Given the description of an element on the screen output the (x, y) to click on. 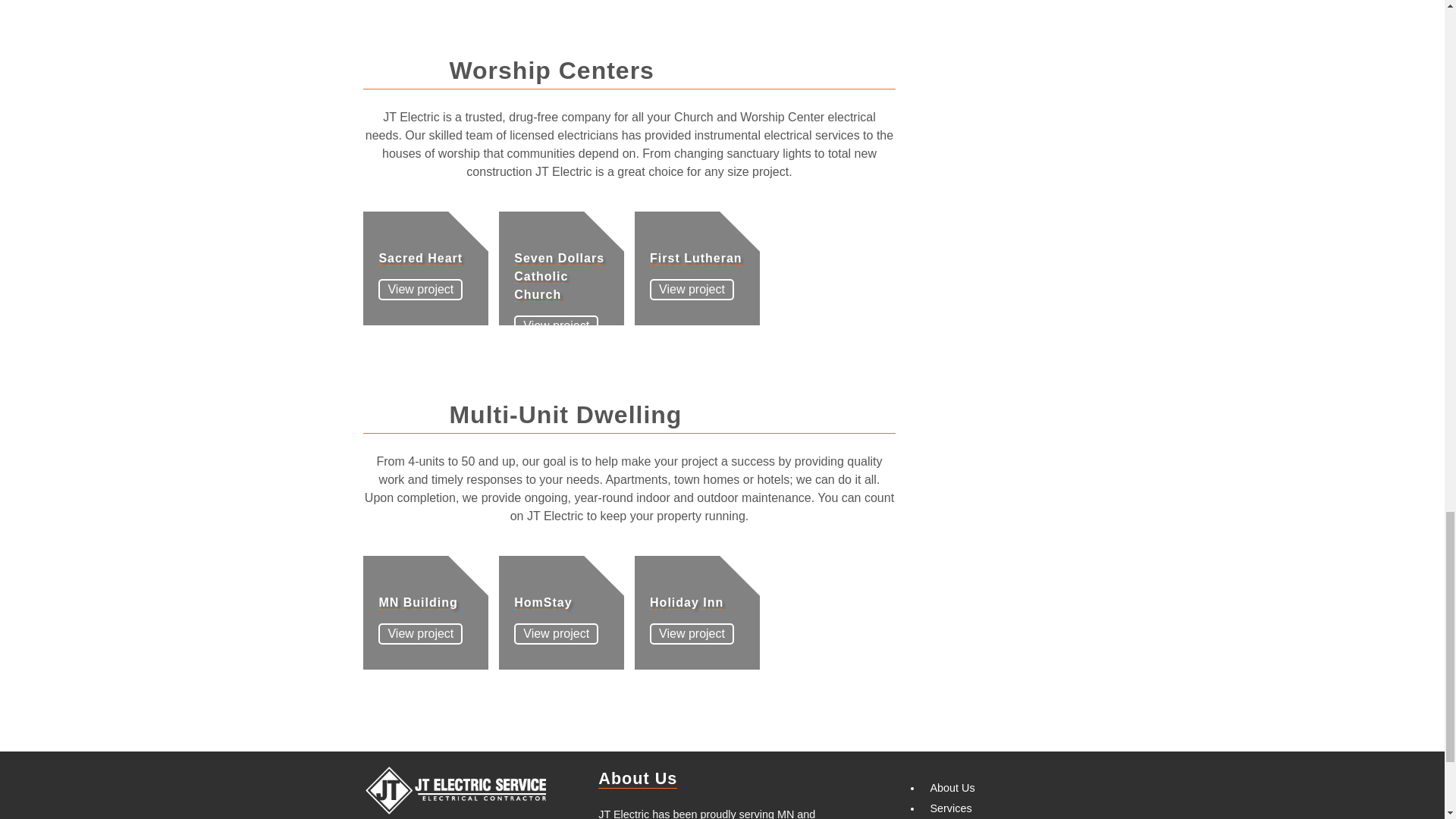
View project (555, 325)
View project (420, 289)
